Given the description of an element on the screen output the (x, y) to click on. 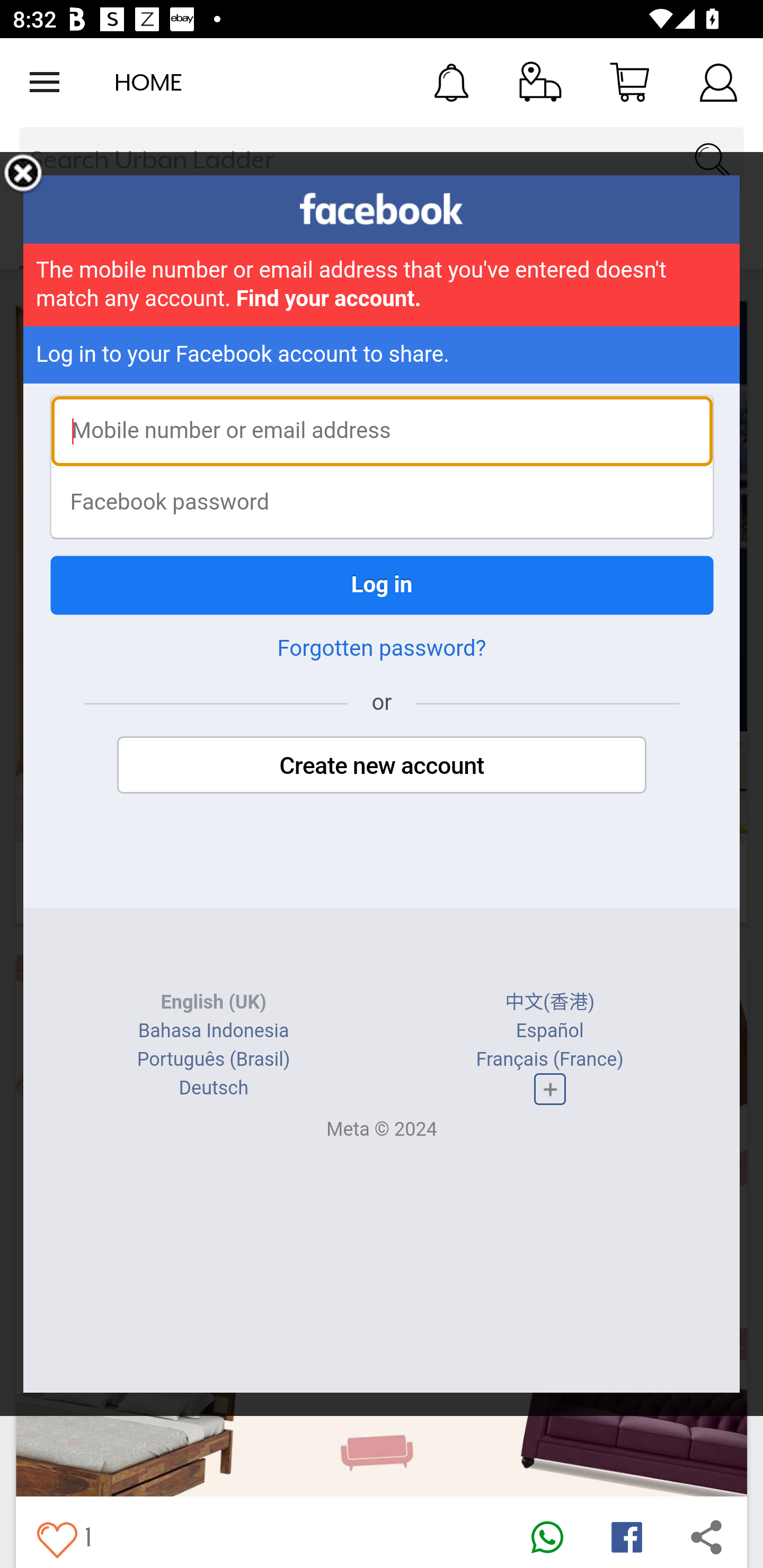
facebook (381, 208)
Find your account. (328, 298)
Log in (381, 585)
Forgotten password? (381, 648)
Create new account (381, 764)
中文(香港) (550, 1002)
Bahasa Indonesia (214, 1030)
Español (549, 1030)
Português (Brasil) (212, 1058)
Français (France) (549, 1058)
Complete list of languages (548, 1088)
Deutsch (212, 1087)
